Given the description of an element on the screen output the (x, y) to click on. 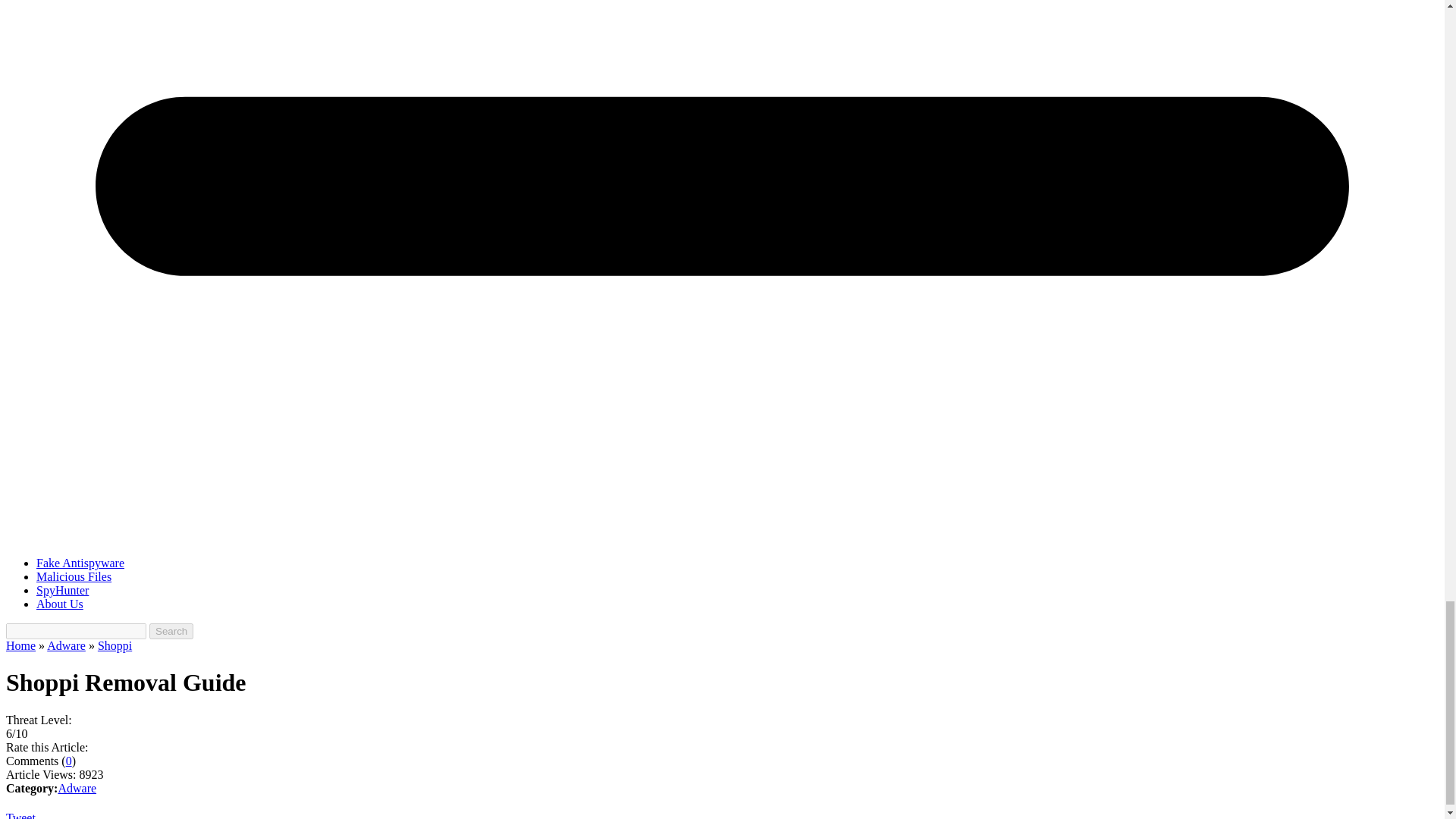
About Us (59, 603)
Home (19, 645)
Shoppi (114, 645)
Malicious Files (74, 576)
Fake Antispyware (79, 562)
Adware (65, 645)
Adware (77, 788)
SpyHunter (62, 590)
Search (171, 631)
Search (171, 631)
0 (68, 760)
